Given the description of an element on the screen output the (x, y) to click on. 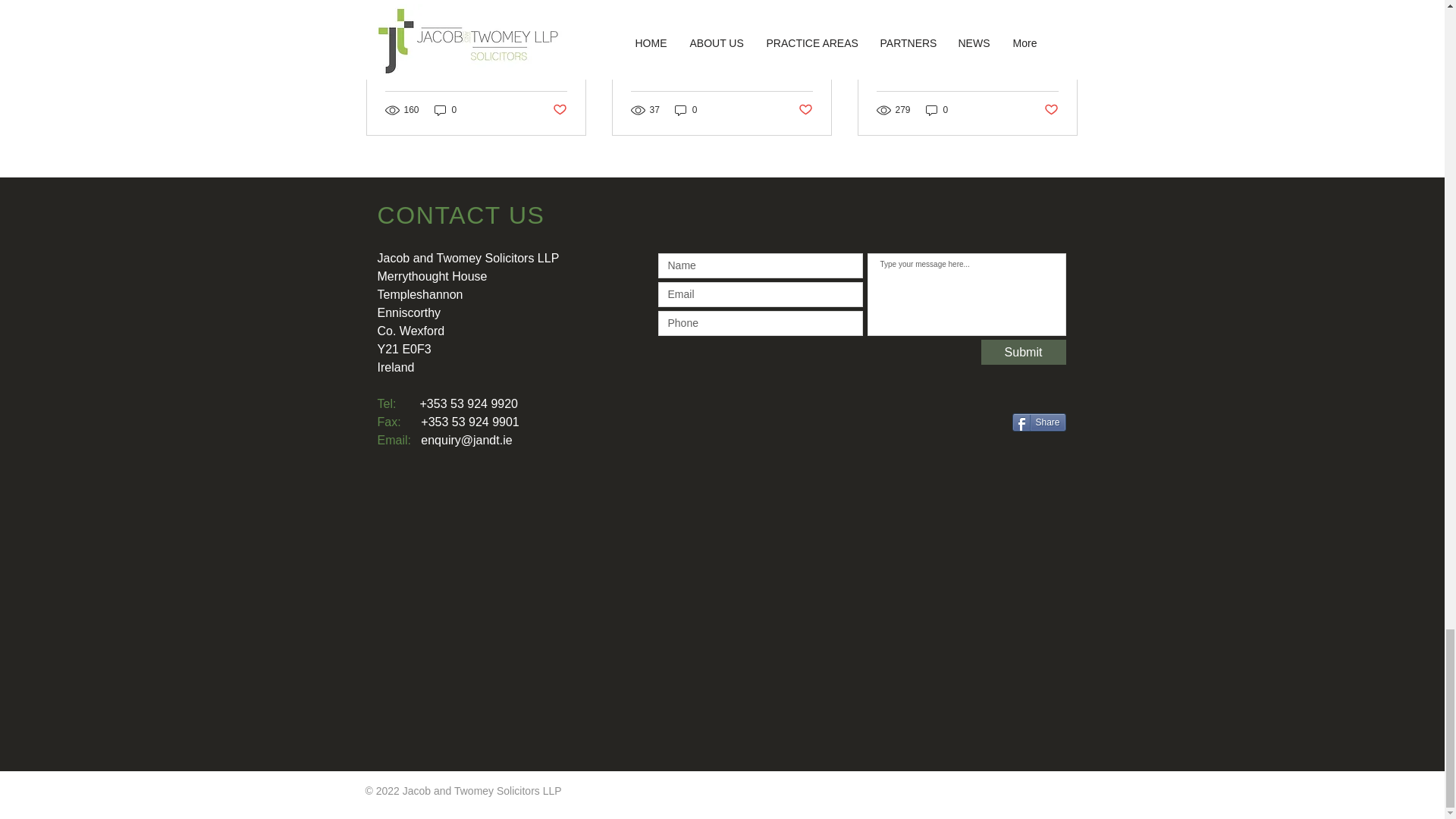
Share (1038, 422)
